Given the description of an element on the screen output the (x, y) to click on. 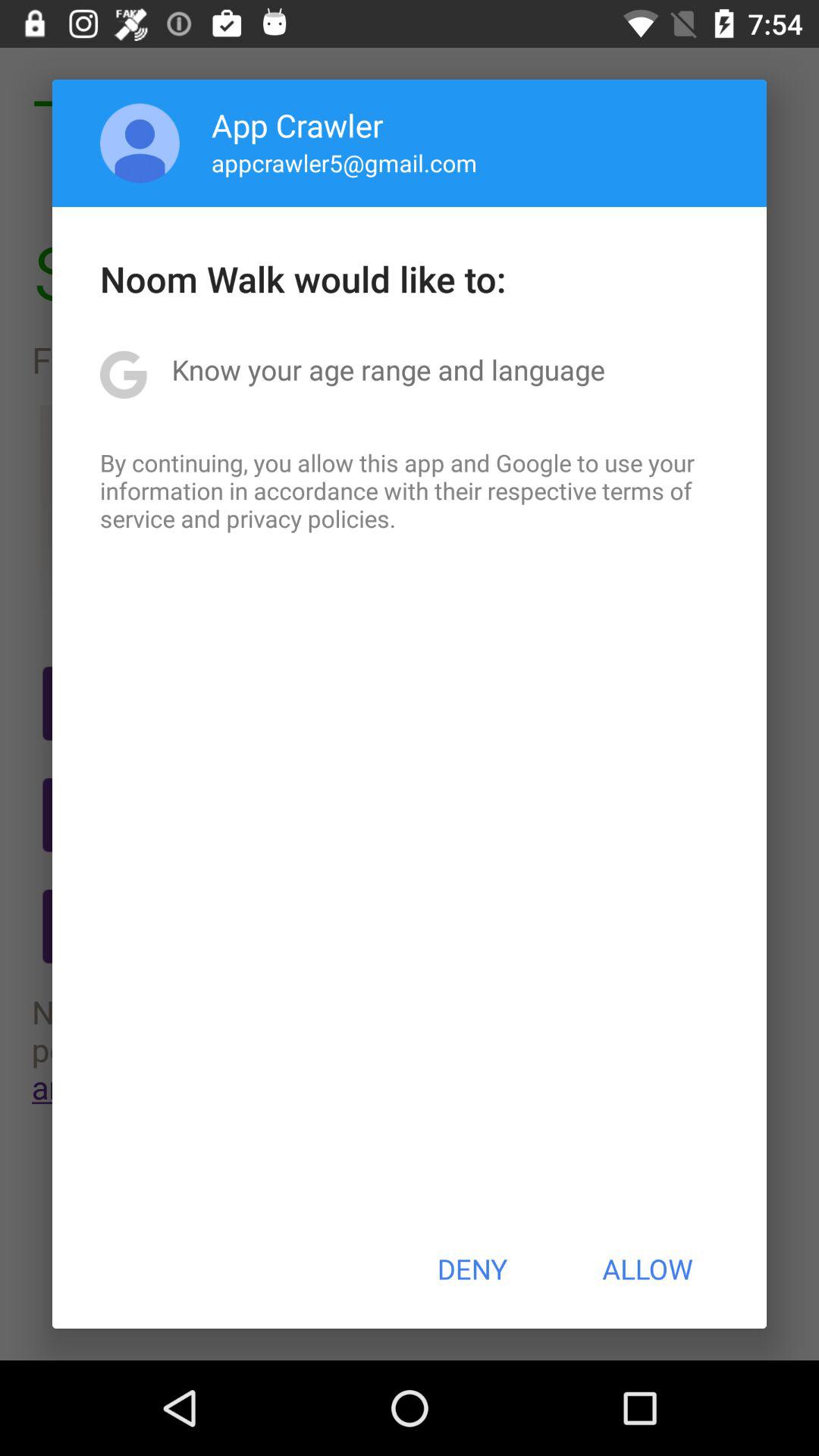
choose the icon to the left of the app crawler item (139, 143)
